Given the description of an element on the screen output the (x, y) to click on. 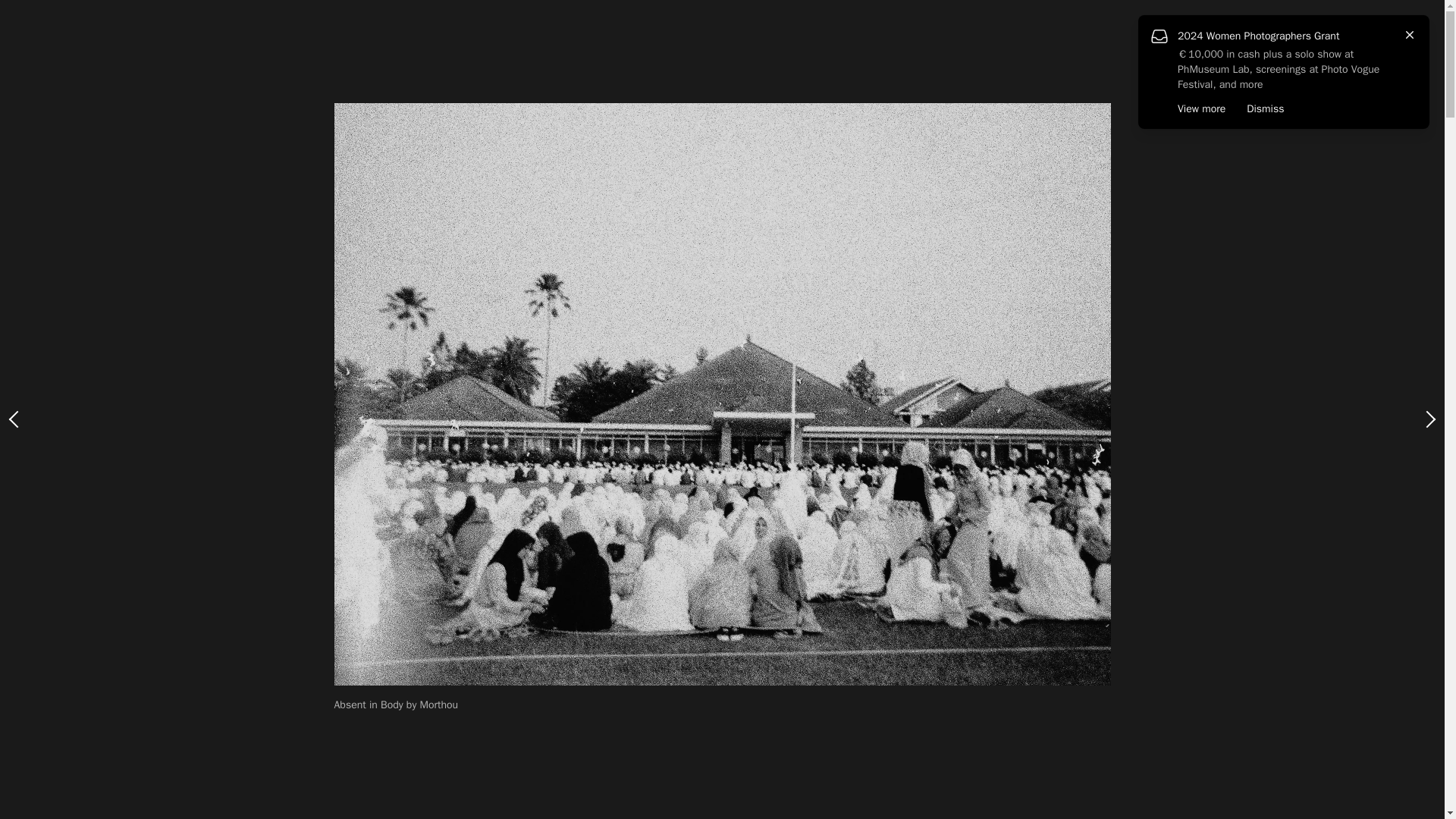
Fullscreen (1320, 62)
PhMuseum Facebook (41, 731)
PhMuseum Vimeo (110, 731)
Featured (420, 64)
6 Free Portfolio reviews - PhMuseum 2022 Photography Grant (580, 266)
Stay in the loop (64, 692)
PhMuseum Twitter (65, 731)
Shop (34, 181)
PhMuseum Days 2024 International Photography Festival (79, 637)
Default view (1395, 62)
Grants (41, 108)
Education (55, 132)
Grid (1262, 62)
Featured (50, 84)
Privacy Policy (42, 773)
